Given the description of an element on the screen output the (x, y) to click on. 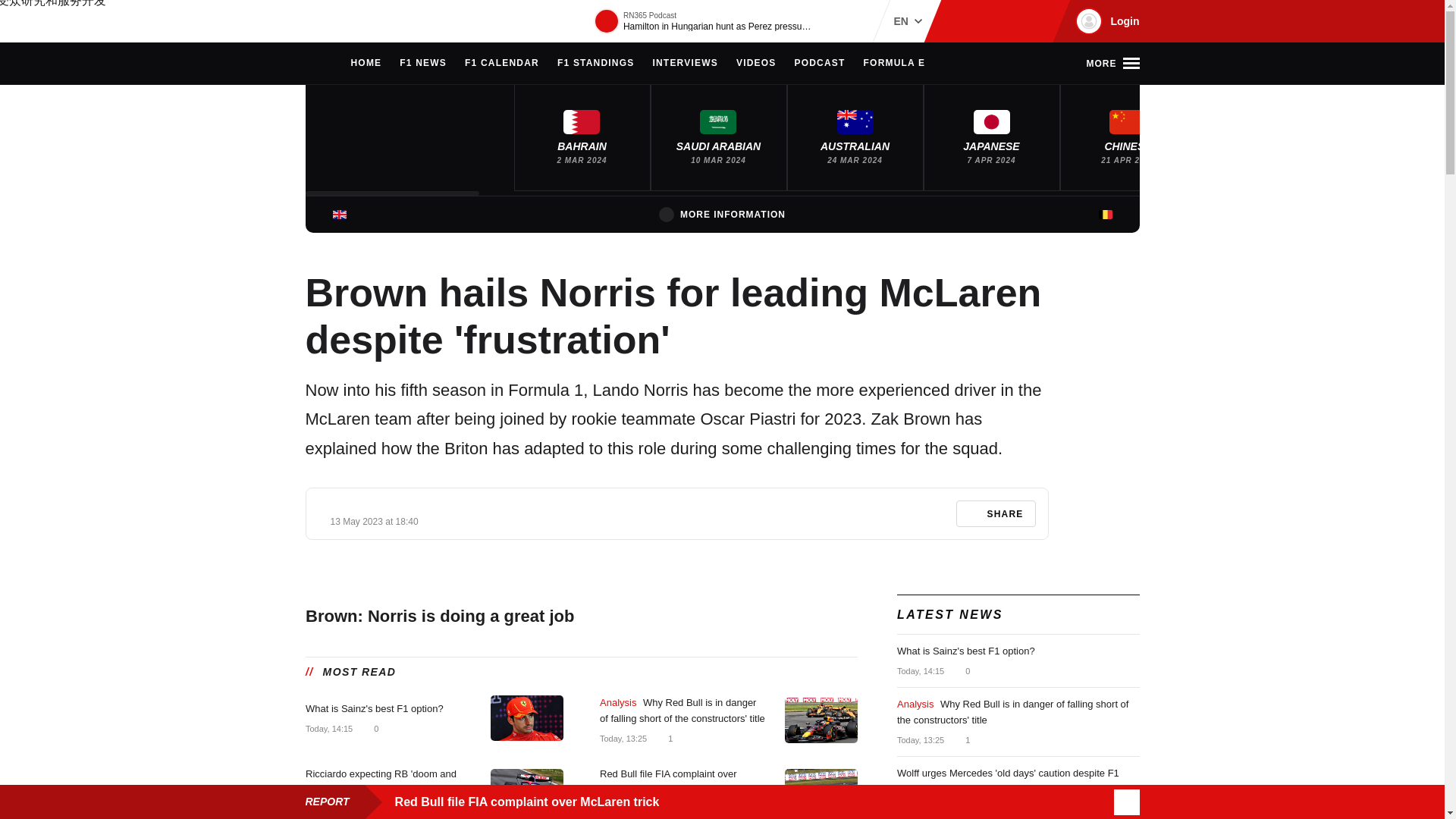
VIDEOS (756, 63)
MORE INFORMATION (722, 214)
Wednesday 17 July 2024 at 02:00 (328, 809)
RacingNews365 on Facebook (986, 21)
INTERVIEWS (684, 63)
RacingNews365 on YouTube (1034, 21)
Wednesday 17 July 2024 at 13:25 (622, 738)
F1 CALENDAR (501, 63)
F1 STANDINGS (595, 63)
Wednesday 17 July 2024 at 14:15 (328, 728)
RacingNews365 on X (1010, 21)
Wednesday 17 July 2024 at 00:00 (622, 809)
RacingNews365 homepage (312, 63)
FORMULA E (894, 63)
RacingNews365 (350, 21)
